Given the description of an element on the screen output the (x, y) to click on. 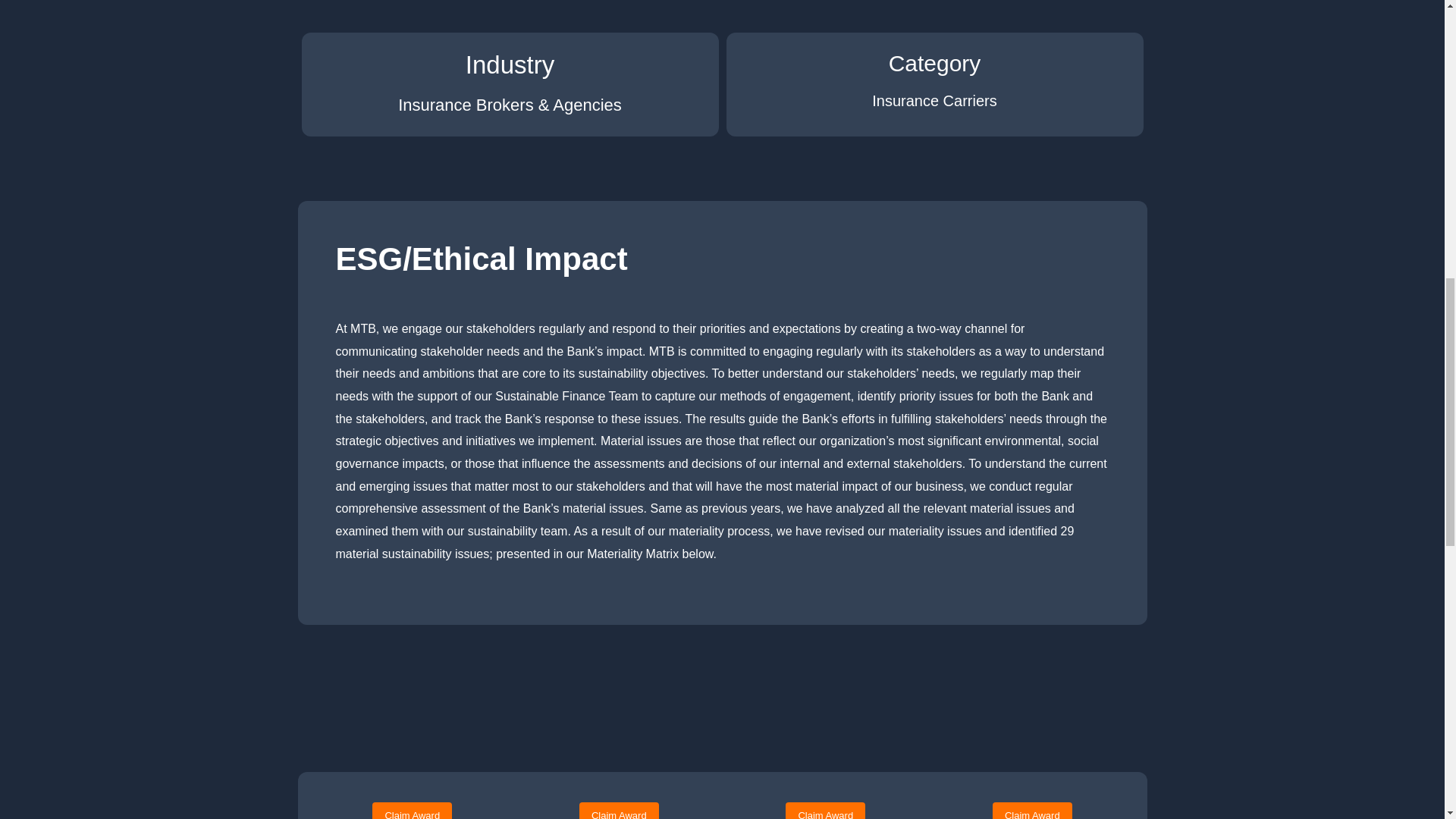
Claim Award (411, 810)
Claim Award (825, 810)
Claim Award (619, 810)
Claim Award (1031, 810)
